Given the description of an element on the screen output the (x, y) to click on. 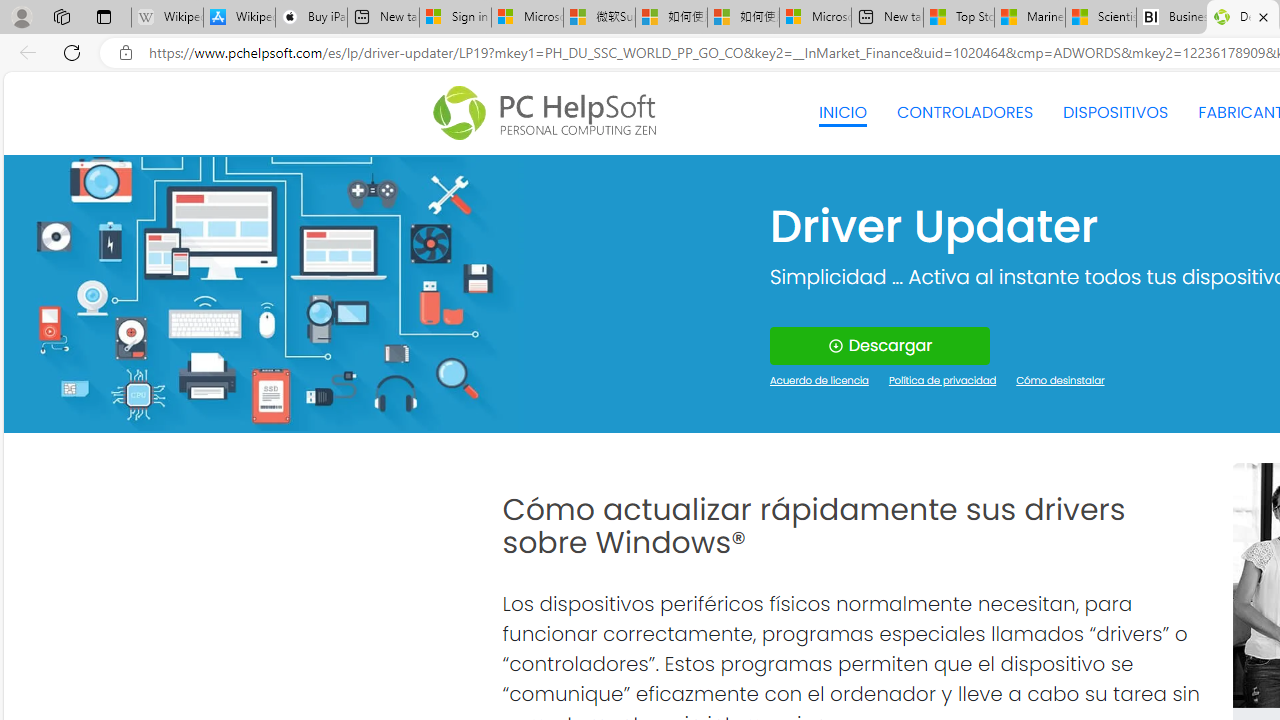
Download Icon Descargar (879, 345)
Generic (263, 293)
Acuerdo de licencia (819, 381)
CONTROLADORES (965, 112)
INICIO (842, 112)
